Given the description of an element on the screen output the (x, y) to click on. 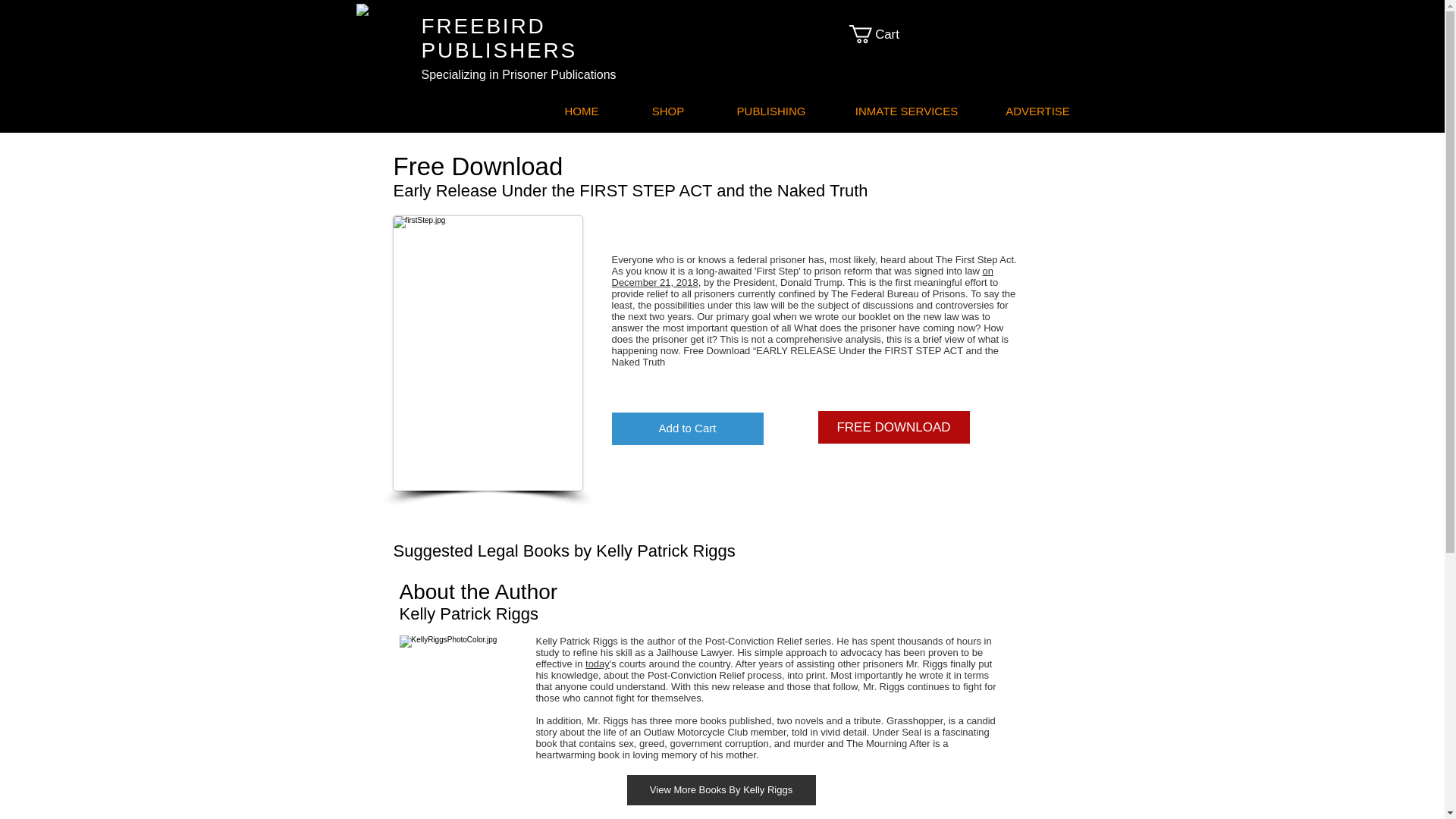
HOME (582, 110)
SHOP (667, 110)
PUBLISHING (770, 110)
Cart (882, 34)
INMATE SERVICES (905, 110)
Cart (882, 34)
